Given the description of an element on the screen output the (x, y) to click on. 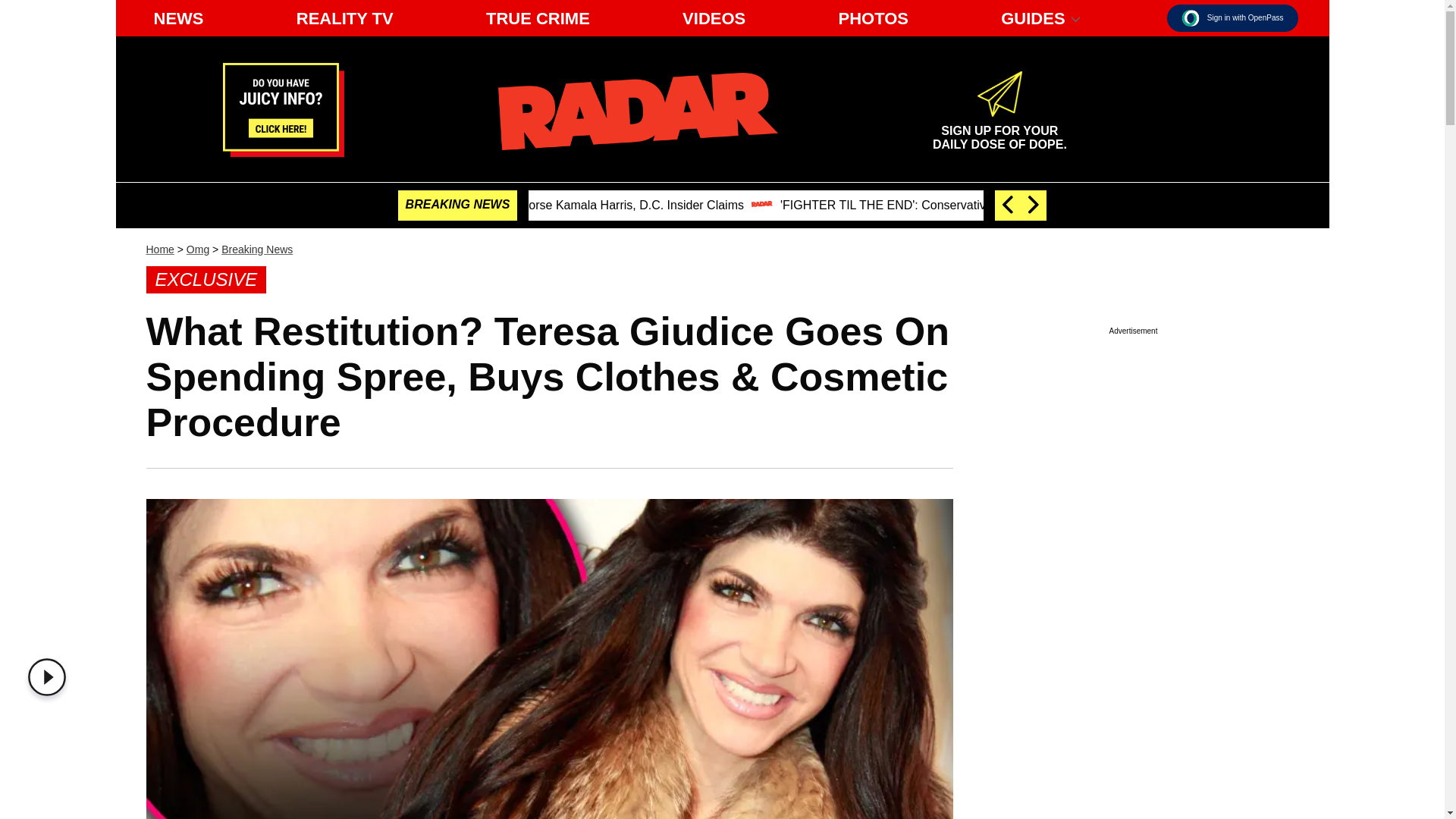
Breaking News (256, 249)
Radar Online (999, 130)
Sign up for your daily dose of dope. (637, 110)
VIDEOS (999, 130)
NEWS (713, 18)
REALITY TV (178, 18)
OpenPass Logo (344, 18)
Omg (1190, 17)
Home (197, 249)
Trinity Audio Player (159, 249)
Email us your tip (50, 677)
TRUE CRIME (282, 152)
PHOTOS (537, 18)
